Given the description of an element on the screen output the (x, y) to click on. 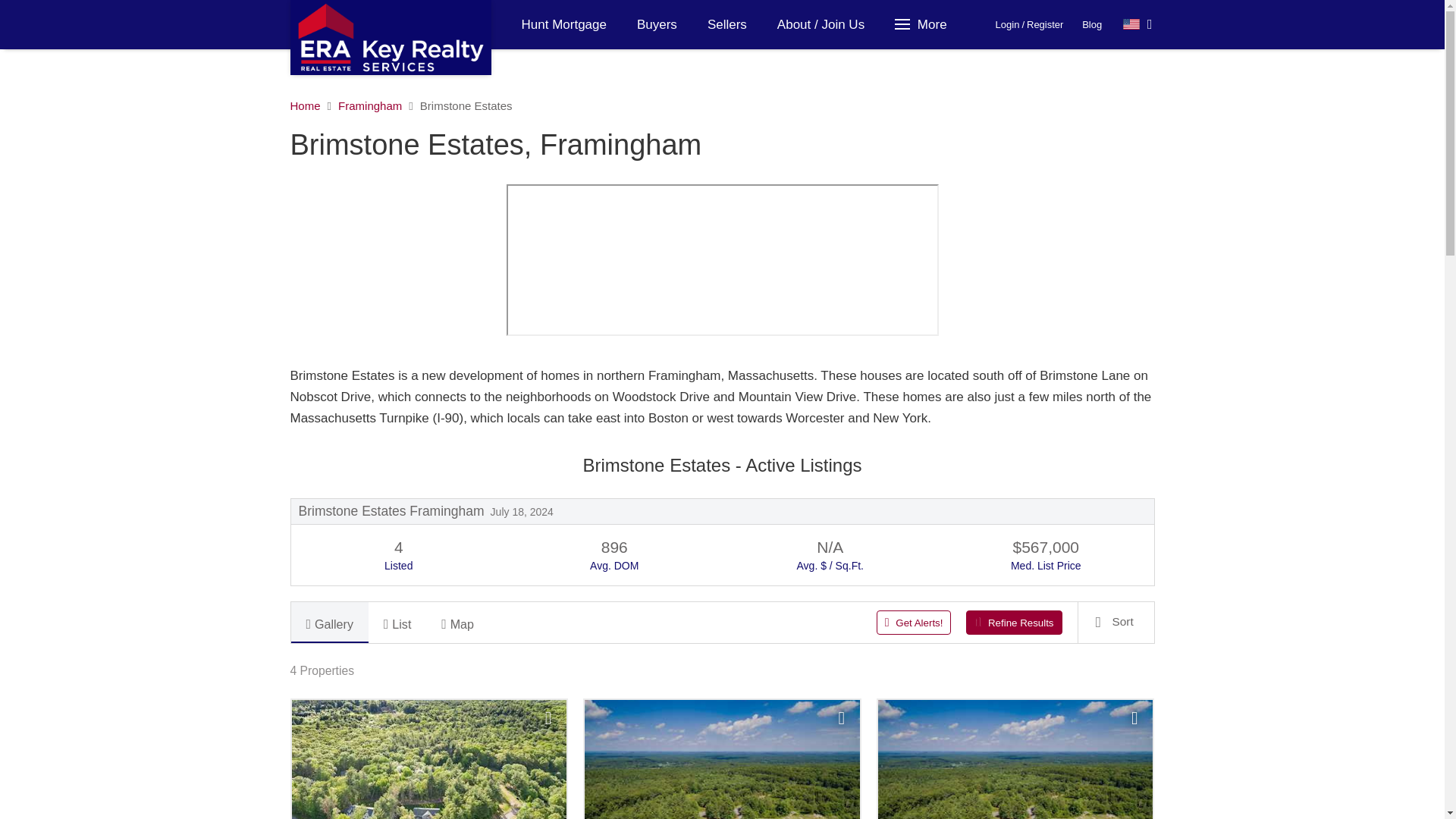
Select Language (1137, 24)
Buyers (657, 24)
Sellers (727, 24)
Register (1044, 24)
Hunt Mortgage (563, 24)
More (922, 24)
